Given the description of an element on the screen output the (x, y) to click on. 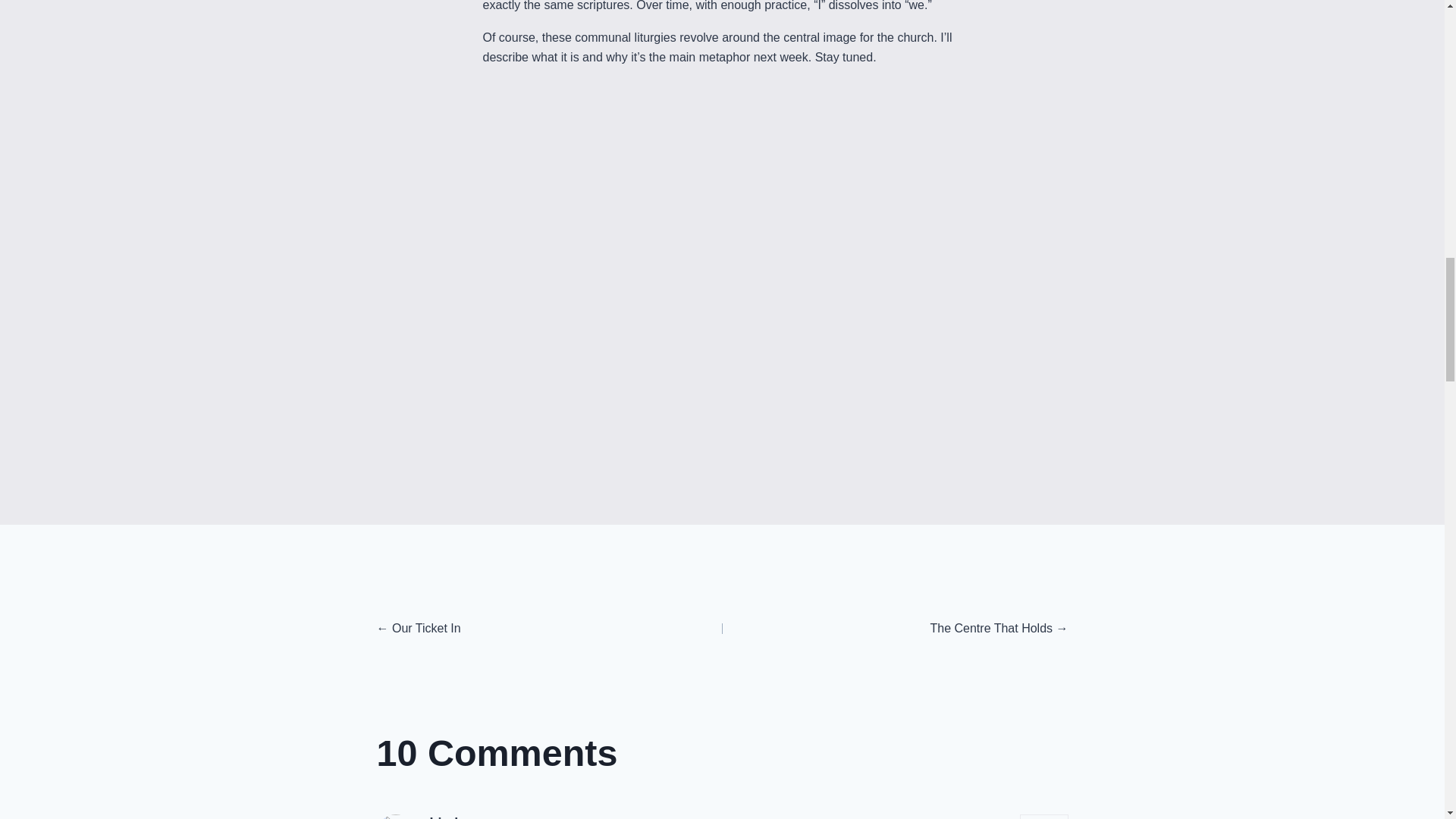
Reply (1044, 816)
Linda (447, 816)
